Given the description of an element on the screen output the (x, y) to click on. 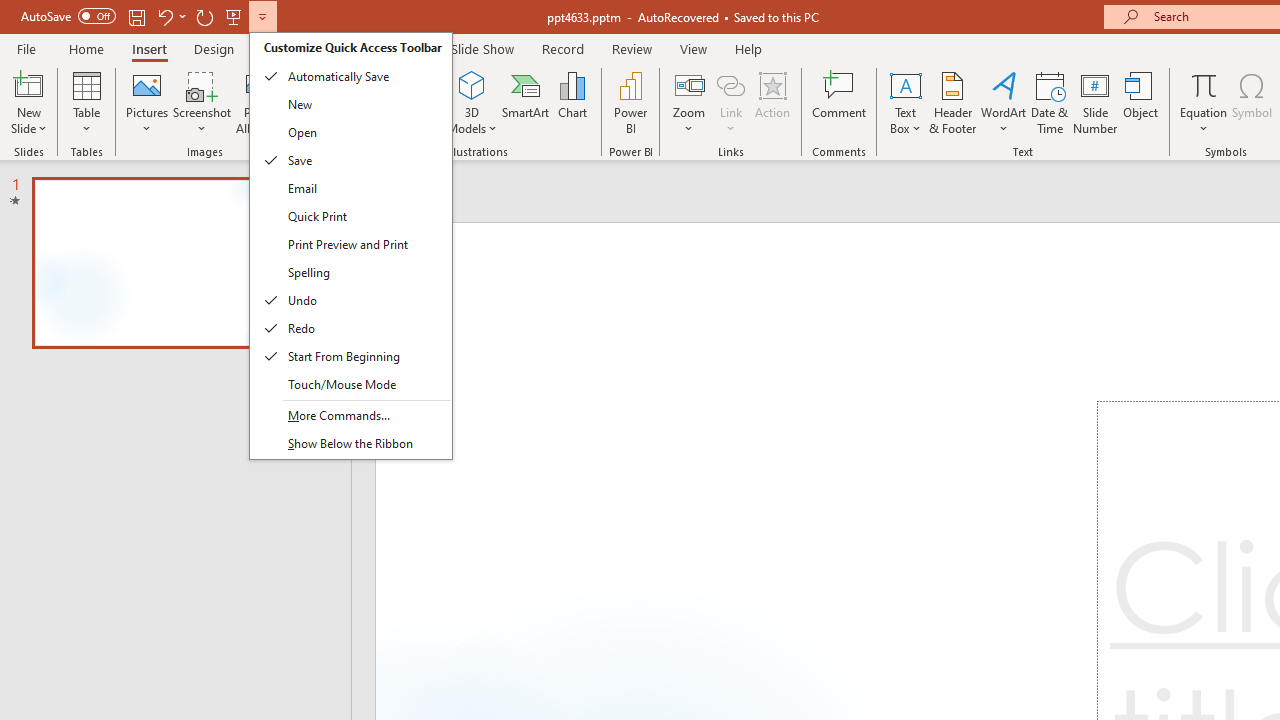
Symbol... (1252, 102)
Draw Horizontal Text Box (905, 84)
Power BI (630, 102)
Chart... (572, 102)
Header & Footer... (952, 102)
